Given the description of an element on the screen output the (x, y) to click on. 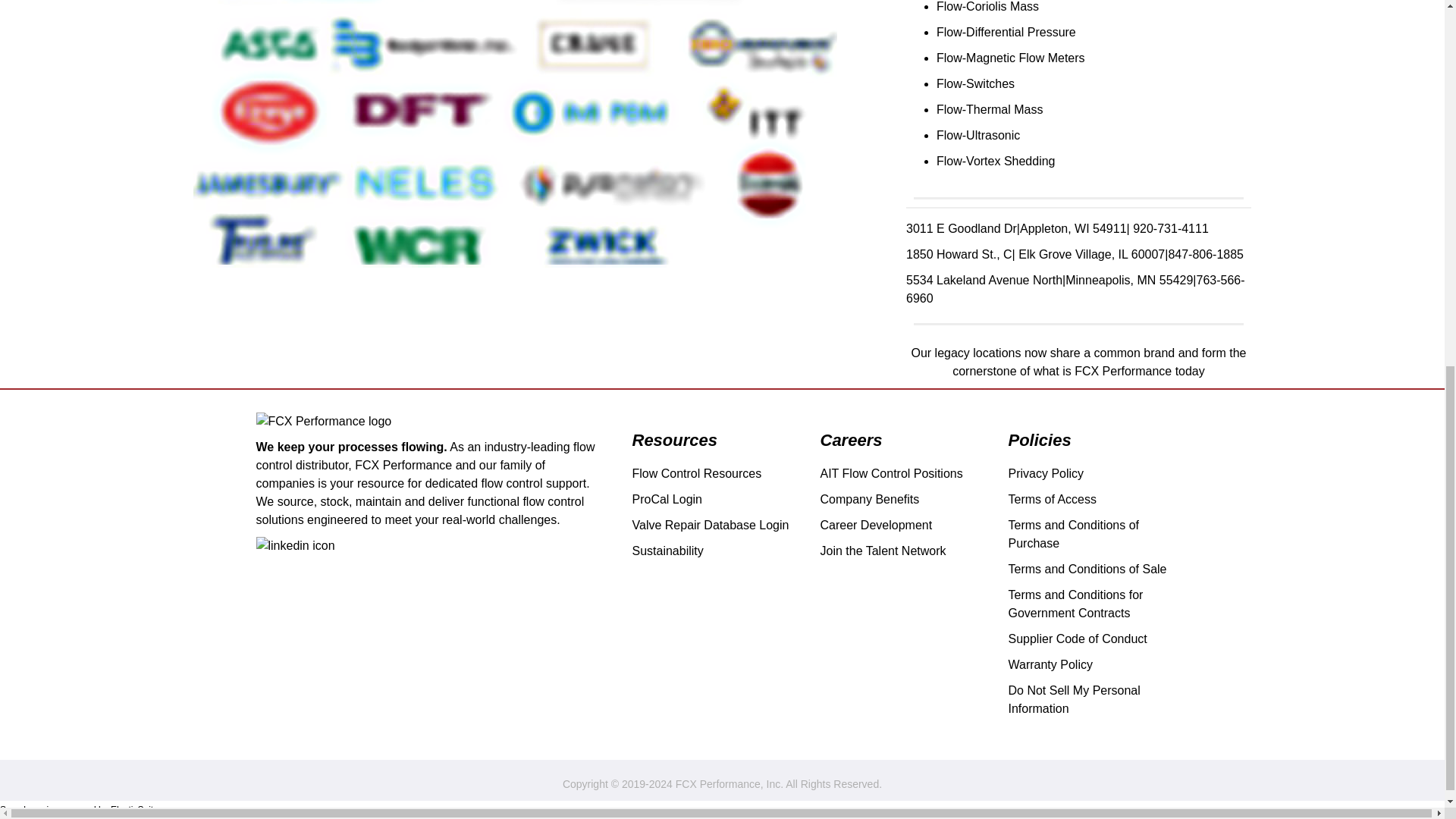
FCX Performance (323, 421)
FCX Performance (323, 421)
Careers (851, 441)
